Given the description of an element on the screen output the (x, y) to click on. 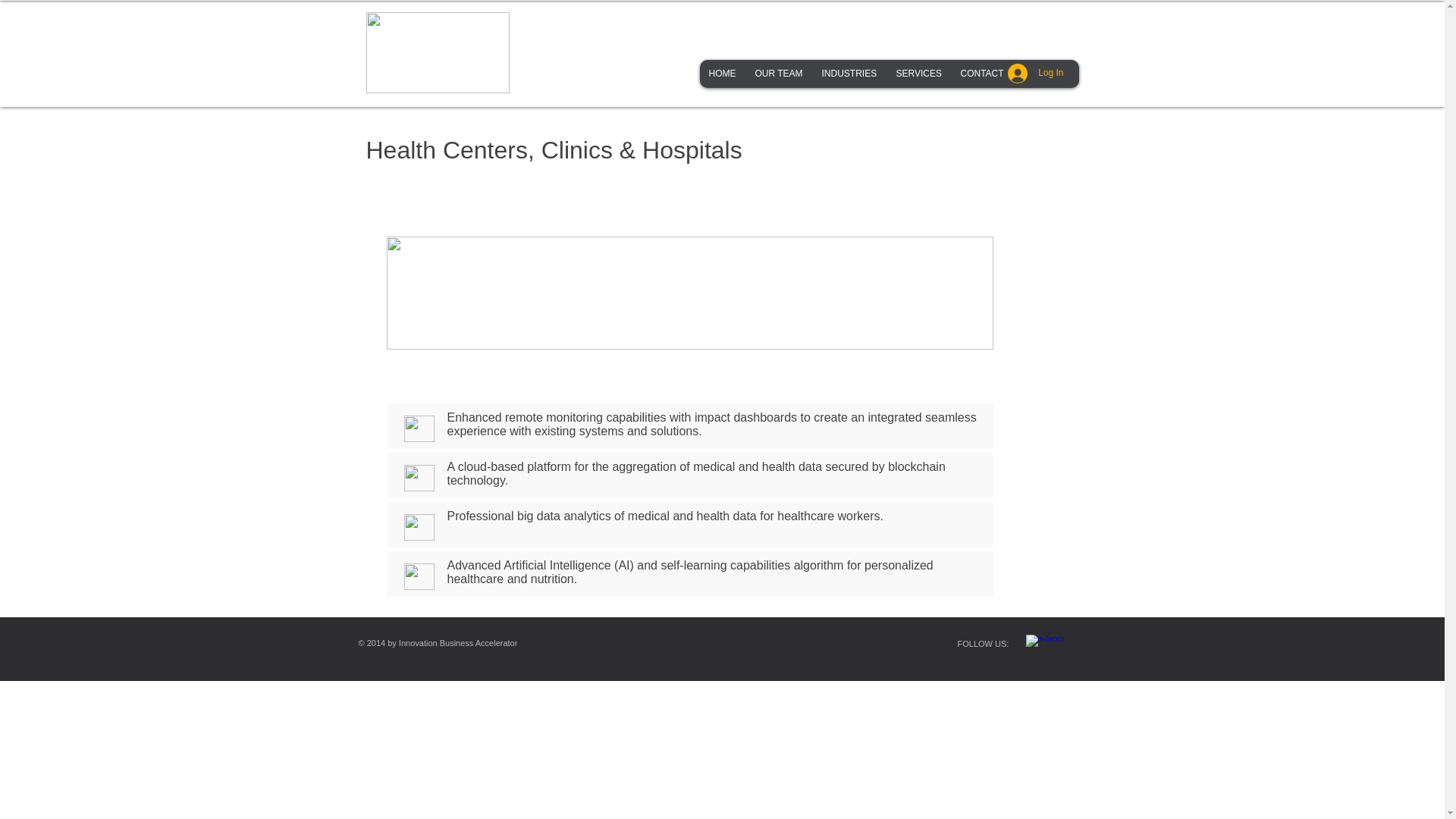
red check.png (418, 428)
SERVICES (917, 73)
red check.png (418, 527)
Log In (1035, 72)
OUR TEAM (777, 73)
HOME (721, 73)
red check.png (418, 478)
hospital.png (689, 292)
InnovBA logo.png (436, 52)
red check.png (418, 576)
INDUSTRIES (847, 73)
CONTACT (981, 73)
